Given the description of an element on the screen output the (x, y) to click on. 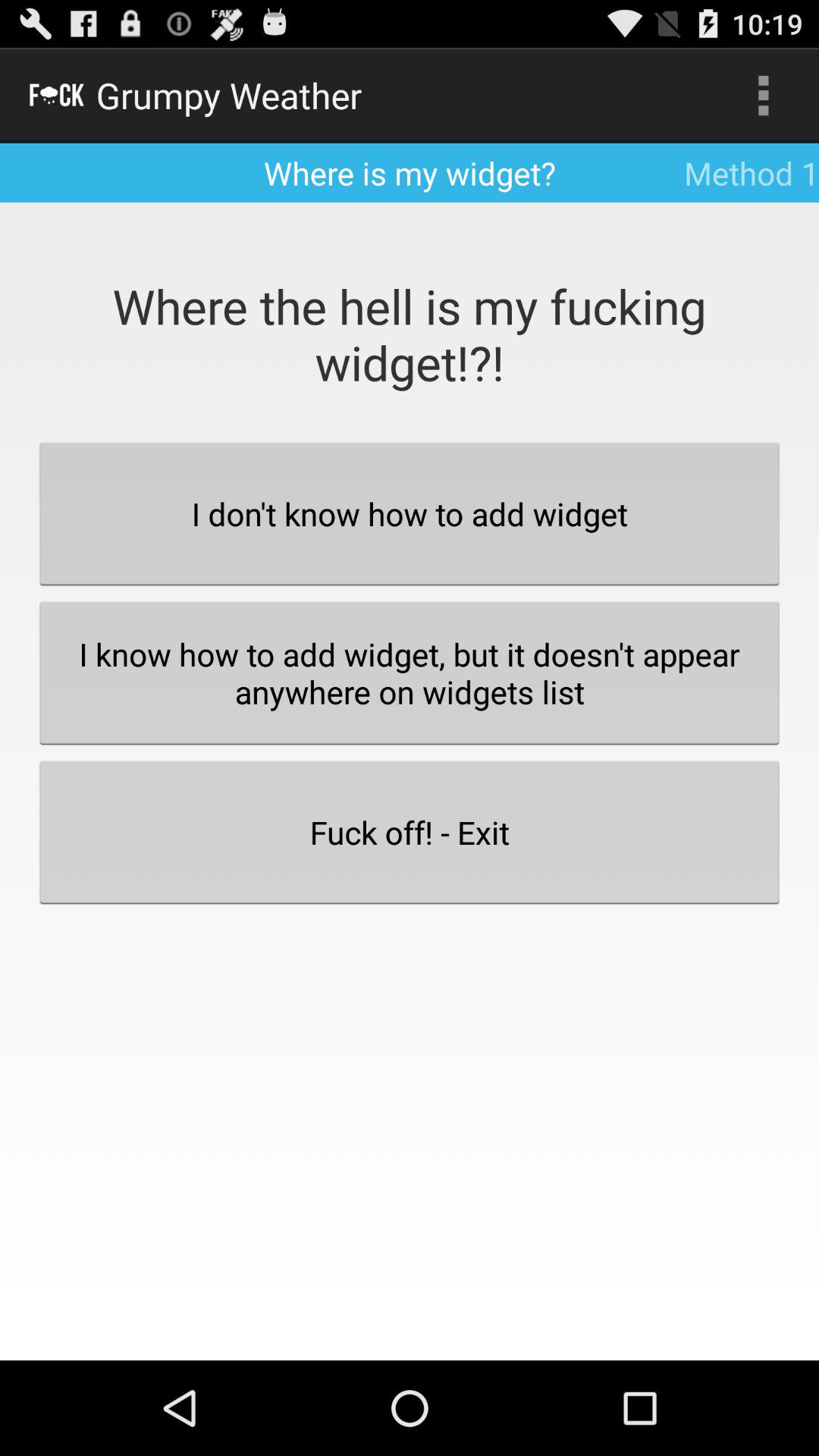
tap the button below the i know how button (409, 831)
